Given the description of an element on the screen output the (x, y) to click on. 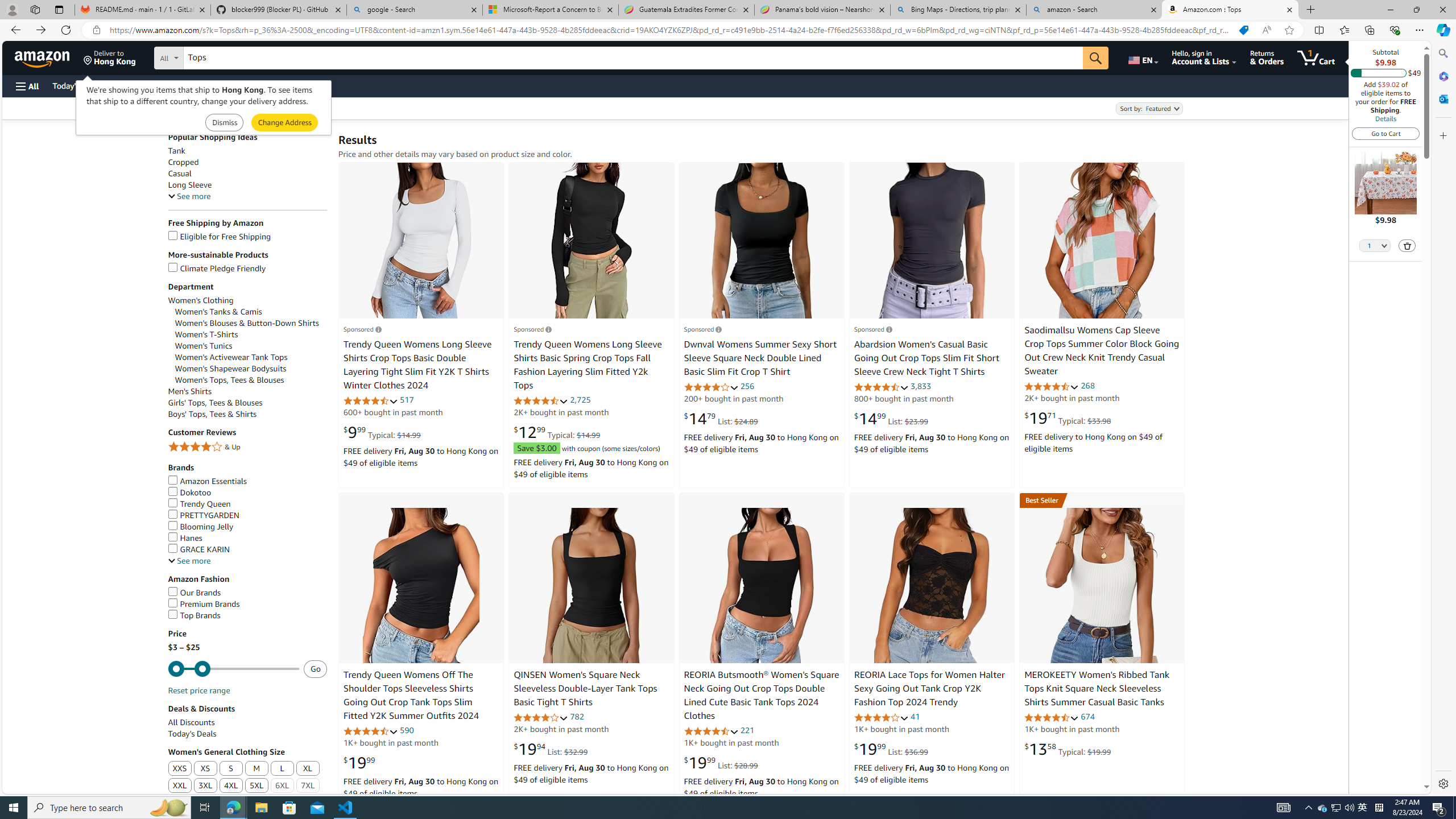
Amazon Essentials (207, 480)
3XL (204, 785)
S (230, 769)
Hanes (184, 537)
Search Amazon (633, 57)
Men's Shirts (247, 391)
Our Brands (194, 592)
Tank (247, 150)
4 Stars & Up& Up (247, 447)
Women's Clothing (247, 300)
